Given the description of an element on the screen output the (x, y) to click on. 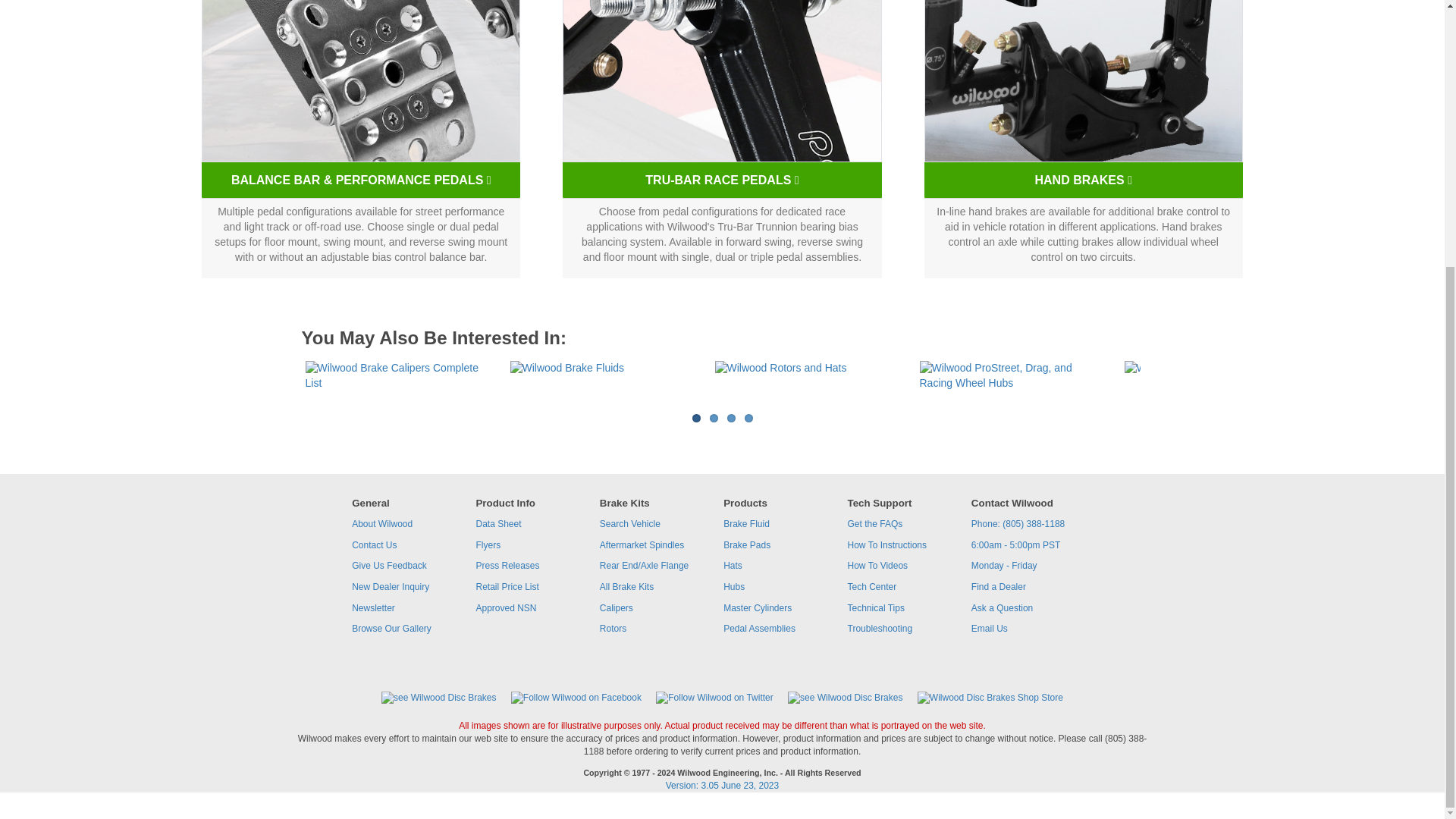
Wilwood  (1218, 368)
Wilwood ProStreet, Drag, and Racing Wheel Hubs (1013, 375)
Wilwood Brake Fluids (603, 368)
Wilwood Brake Calipers Complete List (399, 375)
Wilwood Rotors and Hats (809, 368)
